Given the description of an element on the screen output the (x, y) to click on. 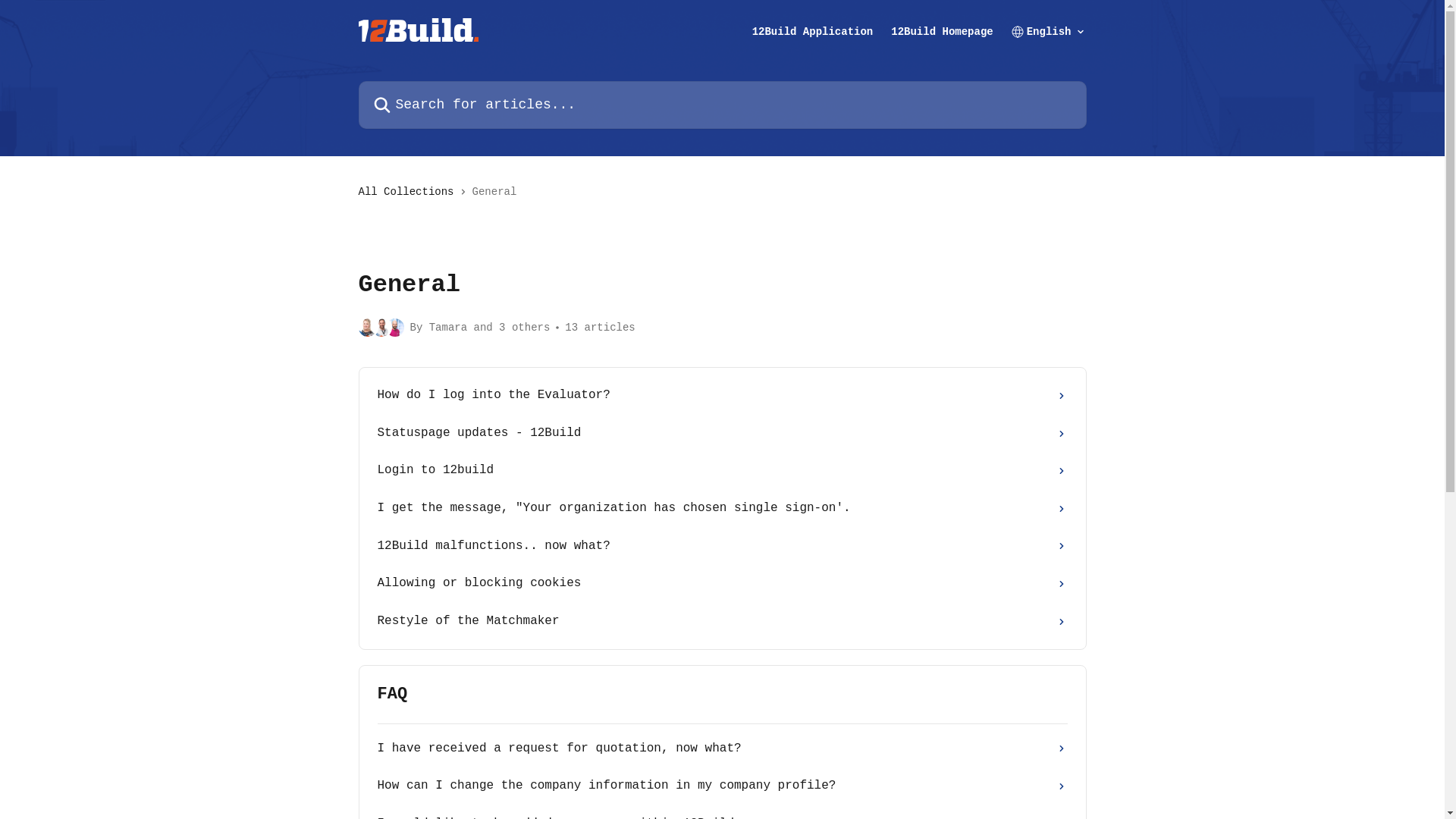
Allowing or blocking cookies Element type: text (722, 583)
All Collections Element type: text (408, 191)
I have received a request for quotation, now what? Element type: text (722, 749)
12Build Homepage Element type: text (941, 30)
Restyle of the Matchmaker Element type: text (722, 621)
Login to 12build Element type: text (722, 470)
How do I log into the Evaluator? Element type: text (722, 395)
12Build Application Element type: text (812, 30)
FAQ Element type: text (722, 694)
Statuspage updates - 12Build Element type: text (722, 433)
12Build malfunctions.. now what? Element type: text (722, 546)
